Given the description of an element on the screen output the (x, y) to click on. 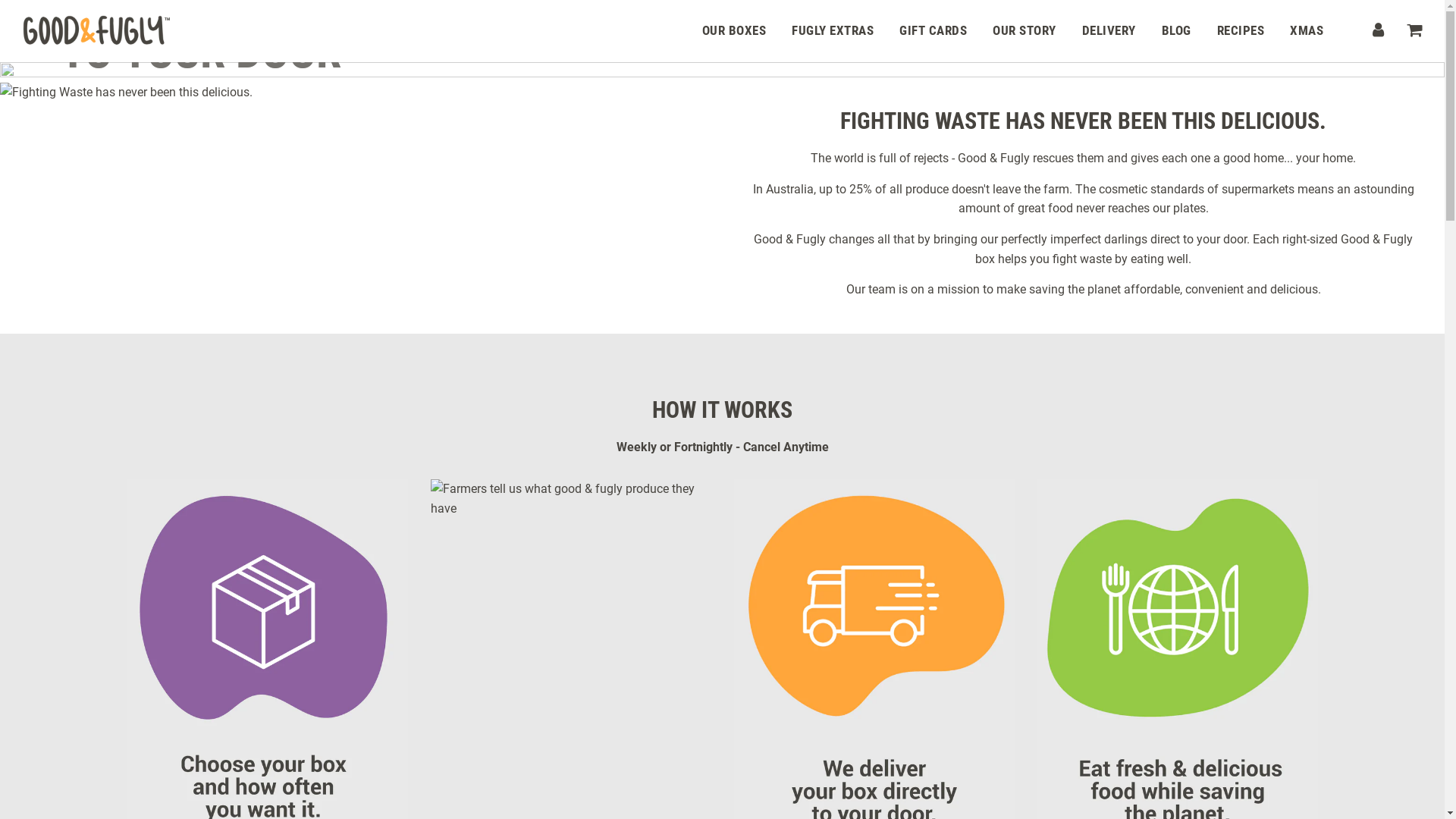
XMAS Element type: text (1306, 30)
OUR STORY Element type: text (1024, 30)
GIFT CARDS Element type: text (933, 30)
RECIPES Element type: text (1240, 30)
DELIVERY Element type: text (1108, 30)
FUGLY EXTRAS Element type: text (832, 30)
Log in Element type: hover (1377, 30)
BLOG Element type: text (1175, 30)
OUR BOXES Element type: text (733, 30)
